Given the description of an element on the screen output the (x, y) to click on. 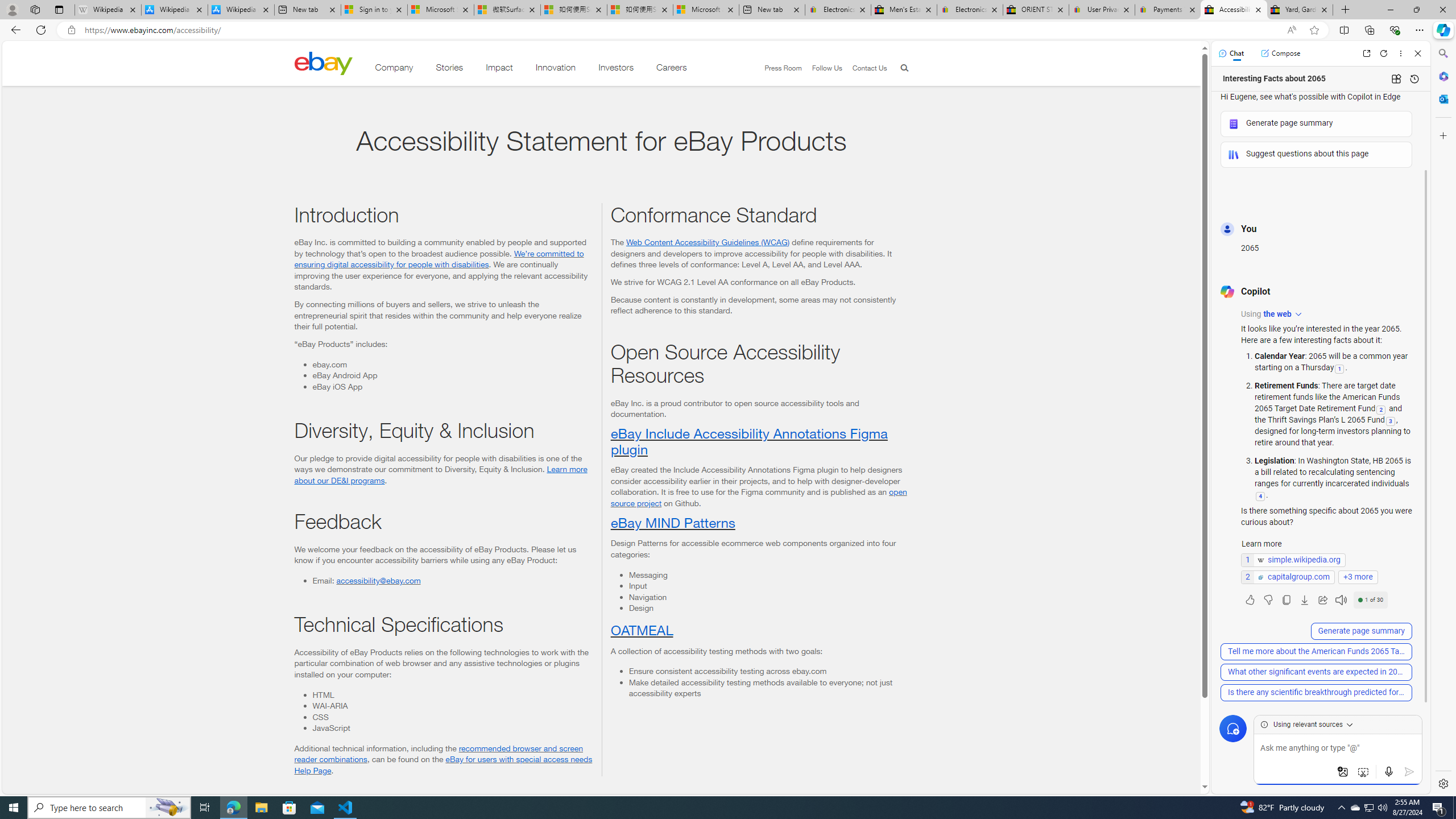
Wikipedia - Sleeping (107, 9)
eBay MIND Patterns (672, 522)
Payments Terms of Use | eBay.com (1167, 9)
Customize (1442, 135)
Follow Us (826, 67)
eBay for users with special access needs Help Page (443, 764)
ebay.com (451, 364)
Input (768, 585)
Web Content Accessibility Guidelines (WCAG) (708, 241)
